Given the description of an element on the screen output the (x, y) to click on. 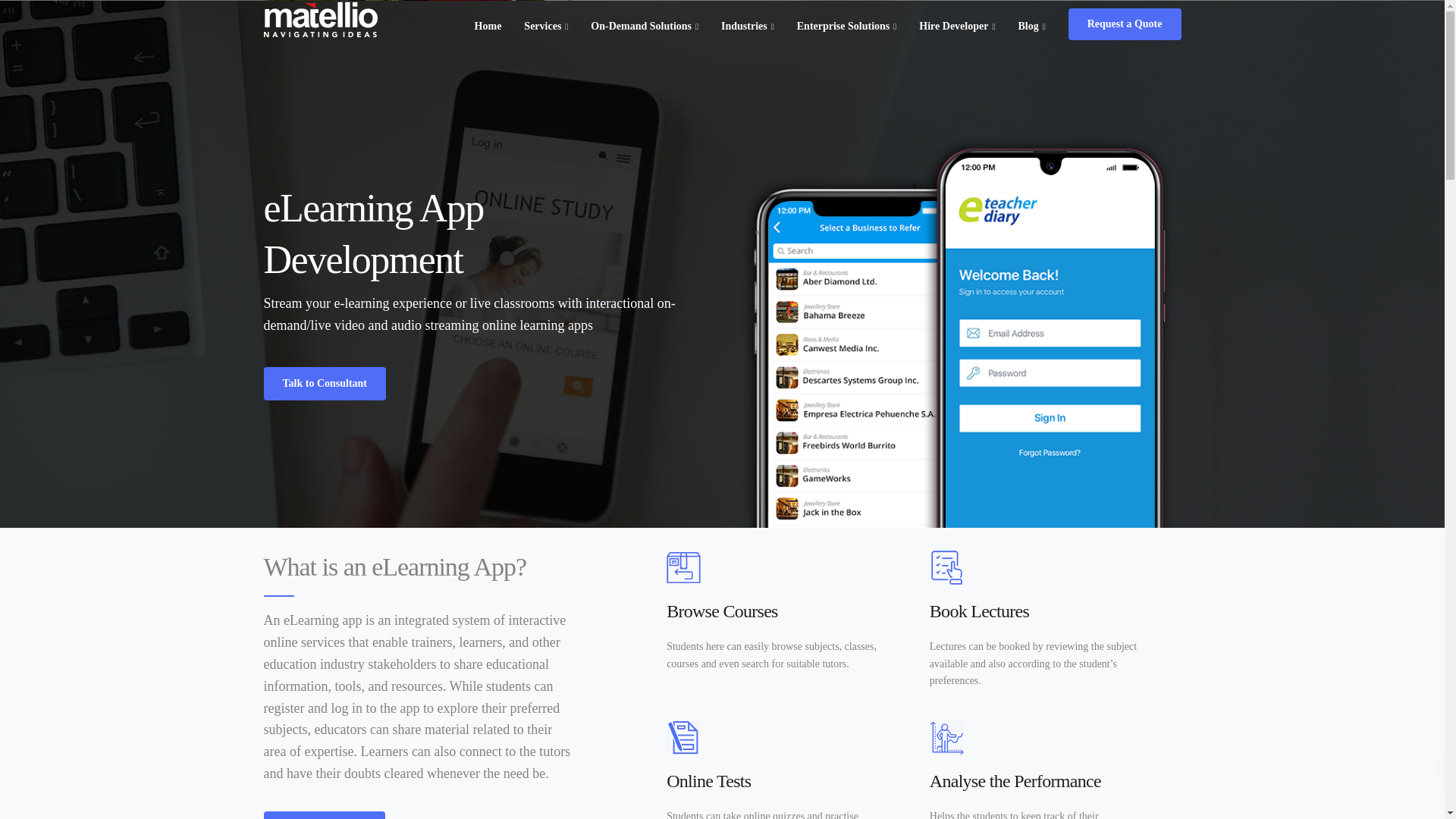
Home (488, 25)
Services (545, 25)
On-Demand Solutions (644, 25)
Services (545, 25)
On-Demand Solutions (644, 25)
Home (488, 25)
